Given the description of an element on the screen output the (x, y) to click on. 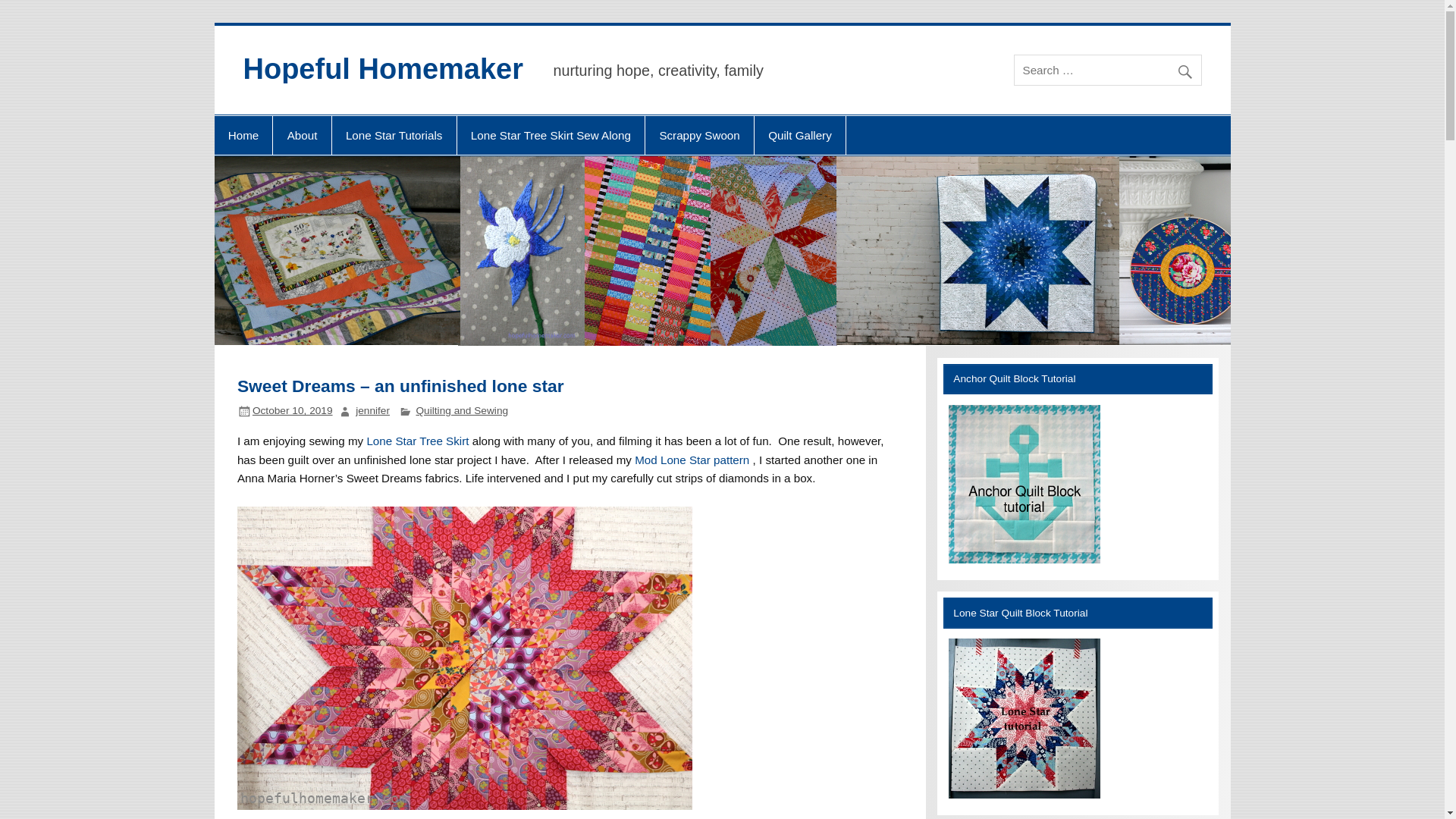
Home (243, 135)
About (301, 135)
Hopeful Homemaker (382, 69)
Lone Star Tutorials (394, 135)
6:29 am (292, 410)
Scrappy Swoon (699, 135)
Lone Star Tree Skirt Sew Along (551, 135)
Mod Lone Star pattern (693, 459)
October 10, 2019 (292, 410)
Lone Star Tree Skirt (418, 440)
